Given the description of an element on the screen output the (x, y) to click on. 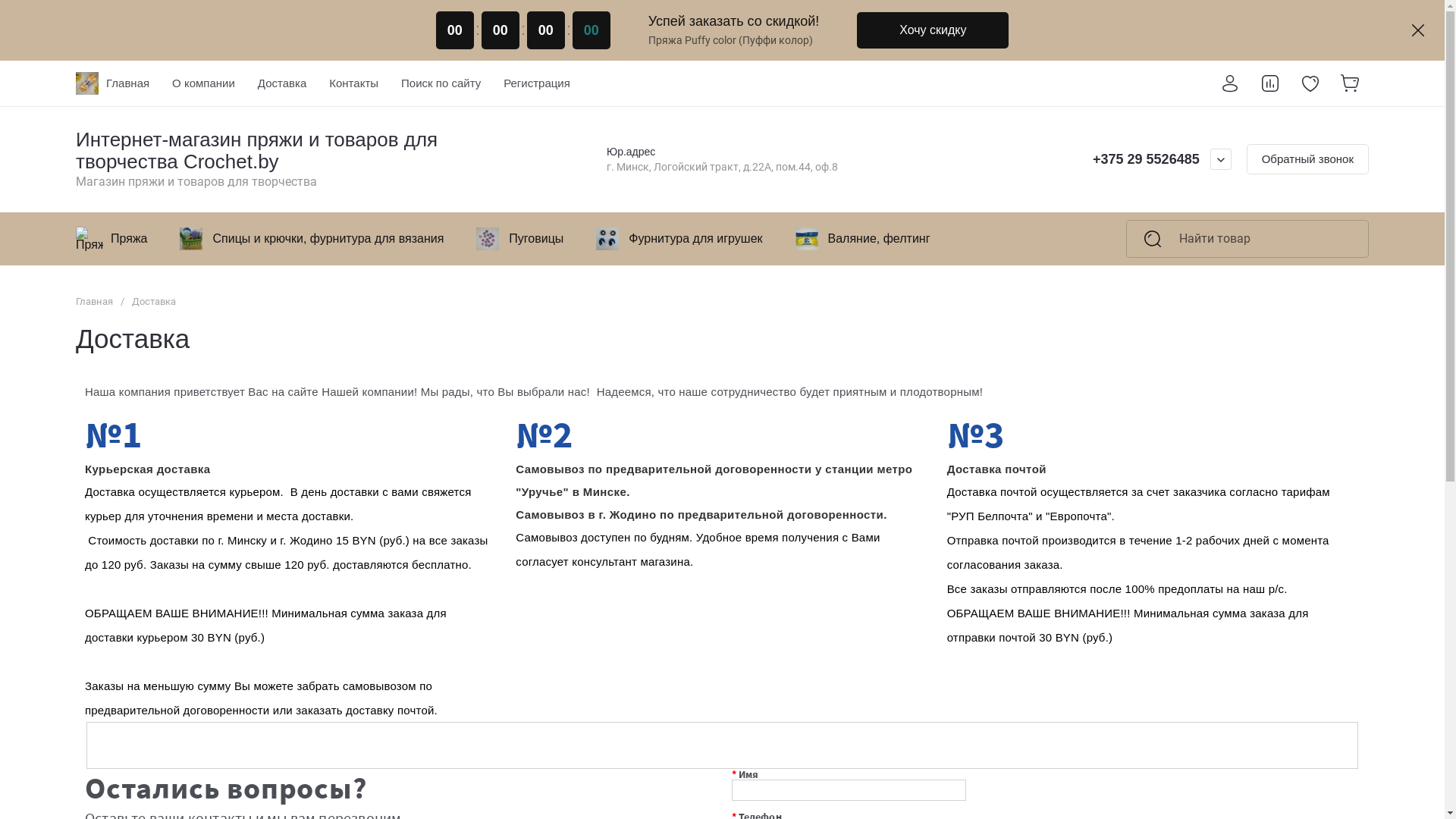
Viber Element type: hover (1072, 158)
Telegram Element type: hover (1048, 158)
+375 29 5526485 Element type: text (1145, 158)
